Given the description of an element on the screen output the (x, y) to click on. 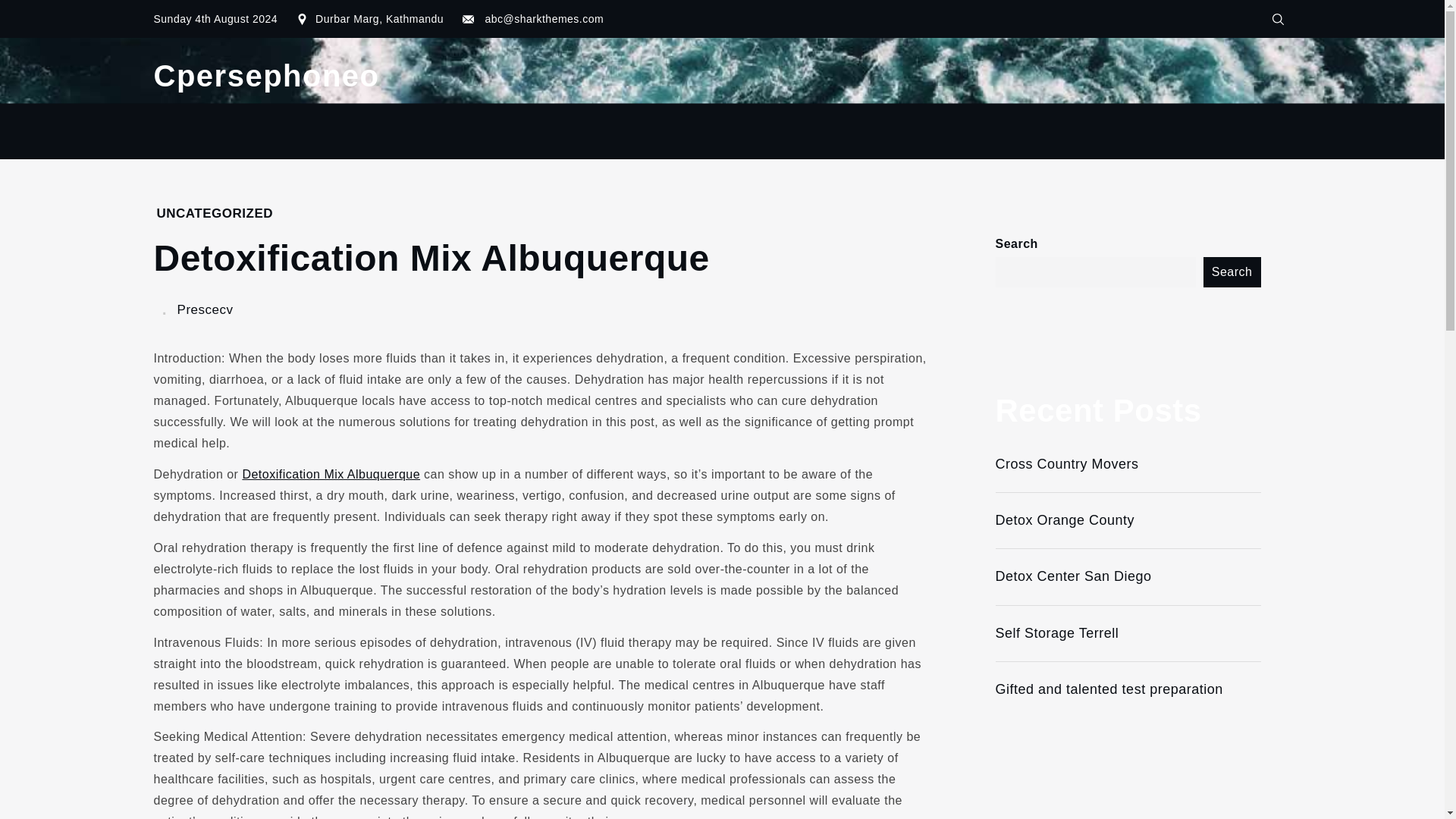
UNCATEGORIZED (214, 213)
Cpersephoneo (265, 75)
Self Storage Terrell (1127, 633)
Search (1232, 272)
Prescecv (204, 309)
Cross Country Movers (1127, 464)
Gifted and talented test preparation (1127, 689)
Detoxification Mix Albuquerque (330, 473)
Detox Orange County (1127, 520)
Detox Center San Diego (1127, 576)
